Given the description of an element on the screen output the (x, y) to click on. 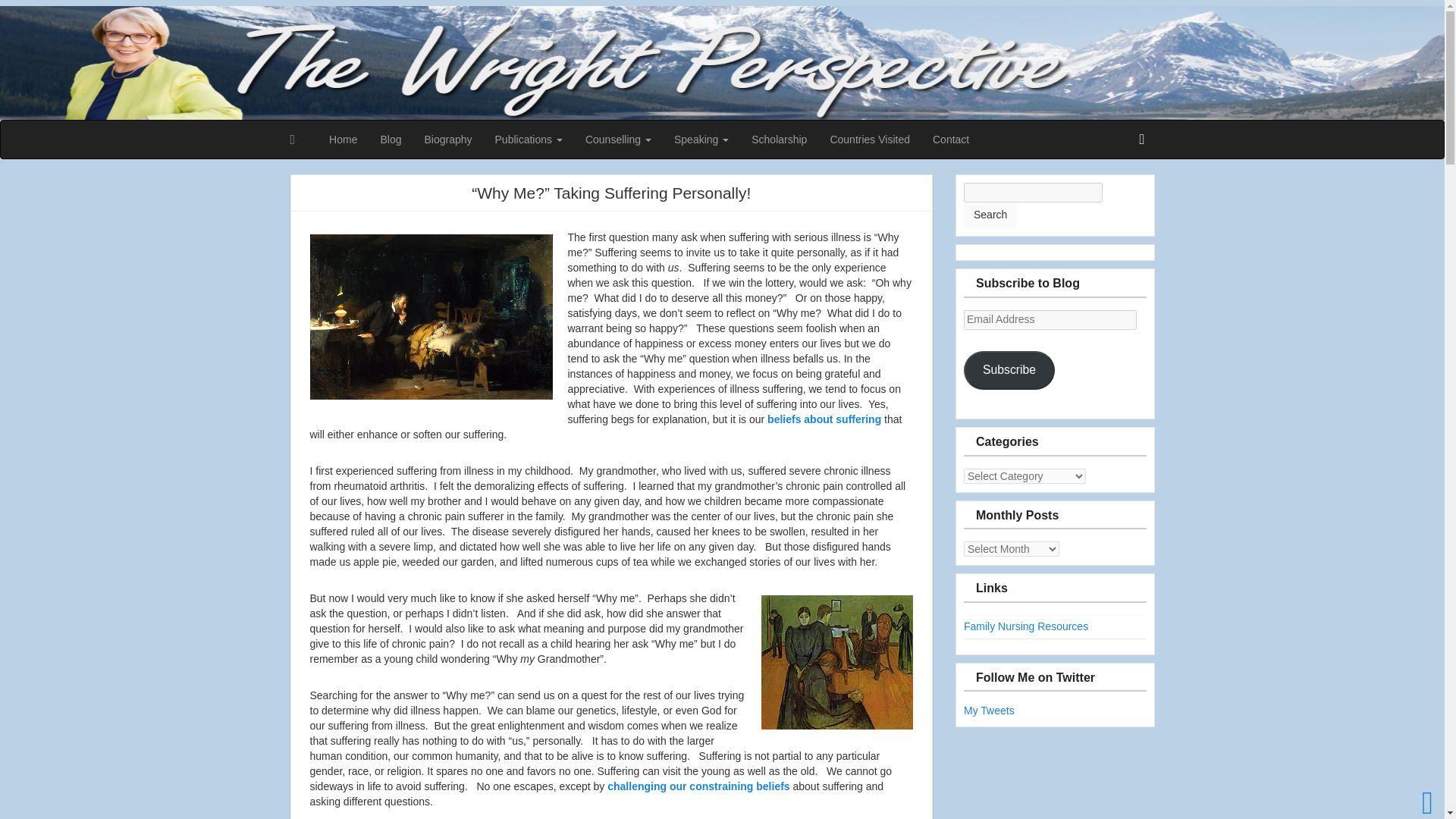
Scholarship (778, 139)
Countries Visited (869, 139)
Biography (447, 139)
Blog (390, 139)
Search (989, 215)
Counselling (617, 139)
Biography (447, 139)
Home (342, 139)
Speaking (700, 139)
Contact (950, 139)
